Given the description of an element on the screen output the (x, y) to click on. 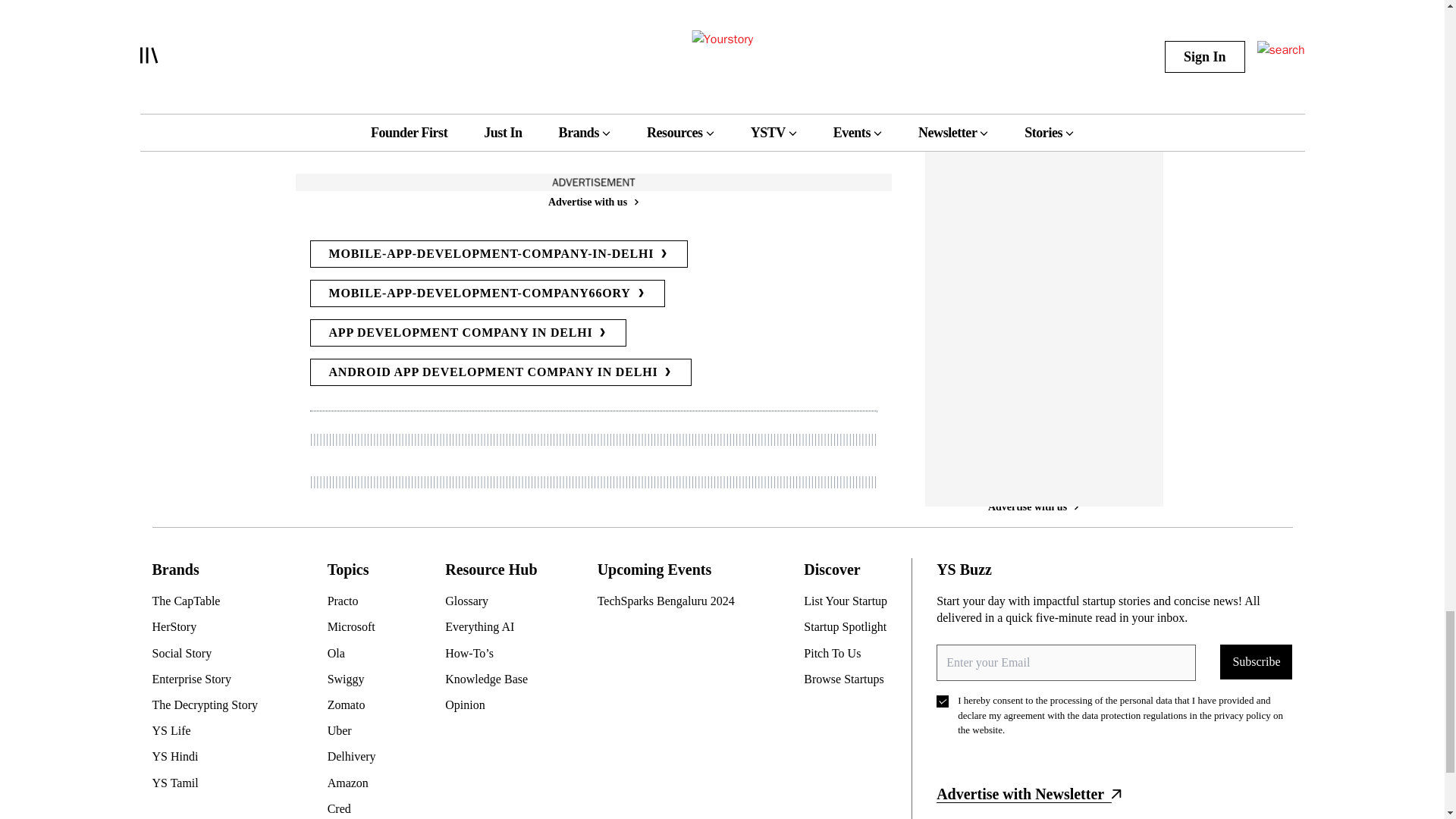
Advertise with us (592, 201)
HerStory (210, 627)
ANDROID APP DEVELOPMENT COMPANY IN DELHI (499, 371)
The CapTable (210, 600)
APP DEVELOPMENT COMPANY IN DELHI (467, 332)
MOBILE-APP-DEVELOPMENT-COMPANY-IN-DELHI (497, 253)
Read more: (348, 133)
MOBILE-APP-DEVELOPMENT-COMPANY66ORY (485, 293)
